Given the description of an element on the screen output the (x, y) to click on. 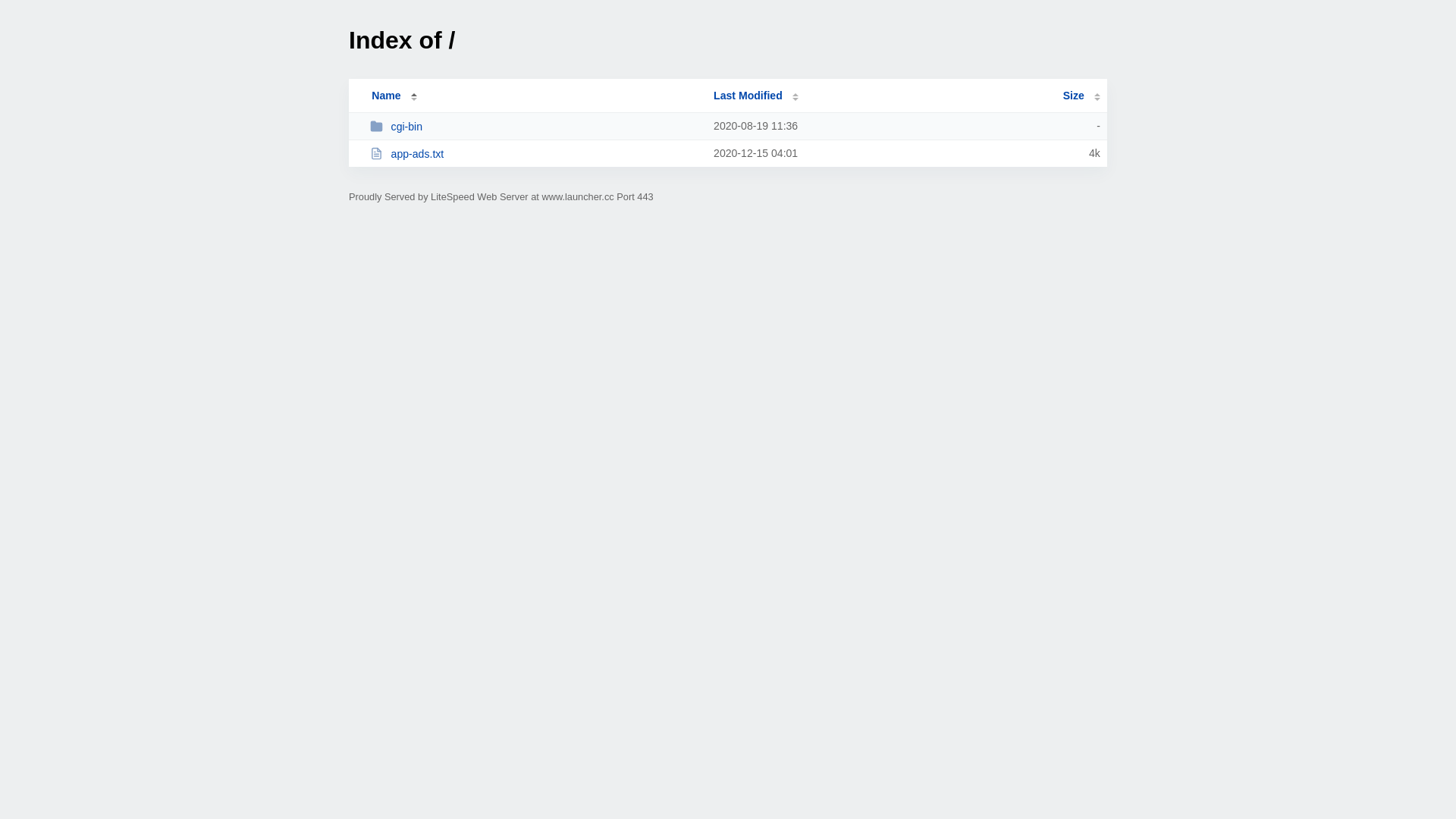
app-ads.txt Element type: text (534, 153)
Size Element type: text (1081, 95)
Last Modified Element type: text (755, 95)
cgi-bin Element type: text (534, 125)
Name Element type: text (385, 95)
